Given the description of an element on the screen output the (x, y) to click on. 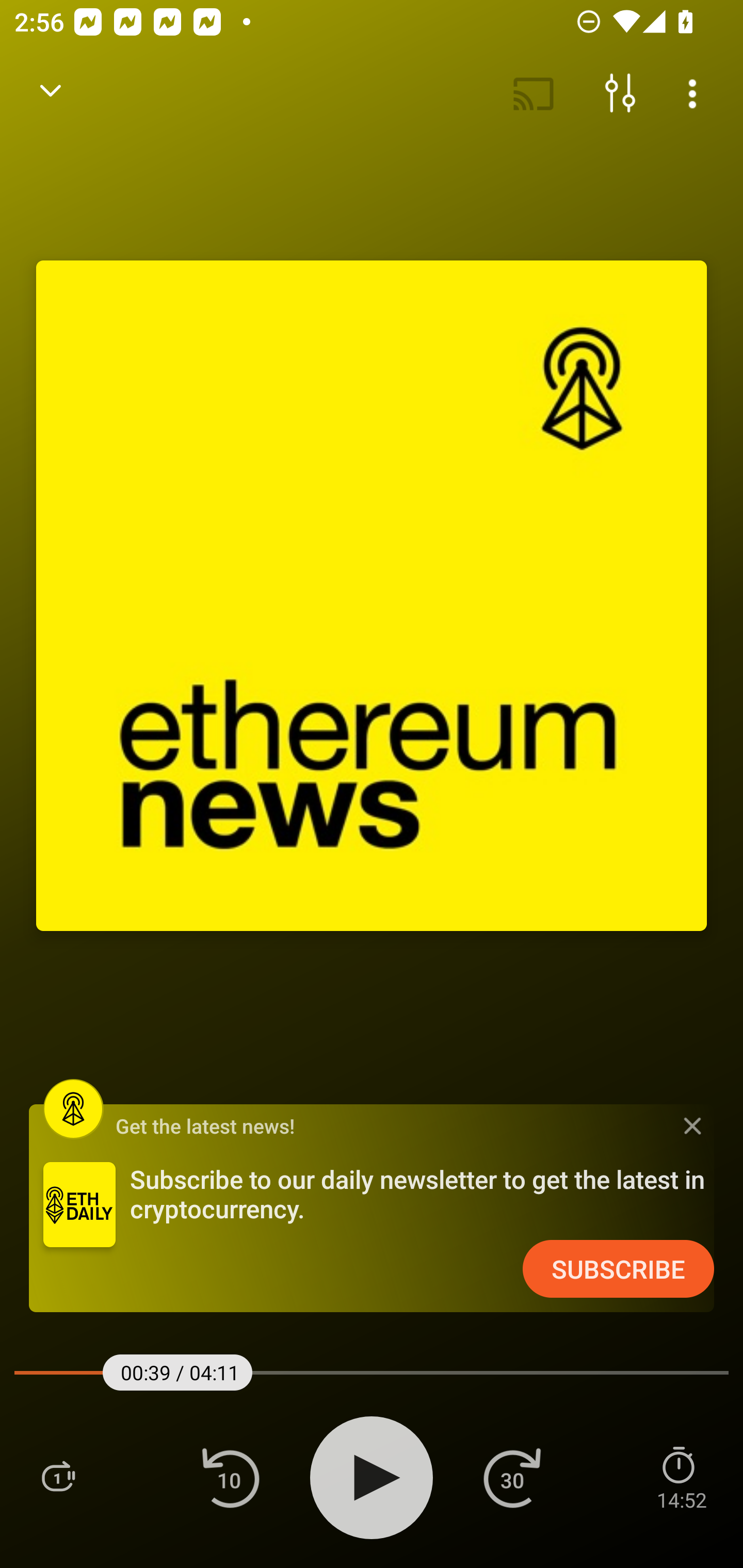
Cast. Disconnected (533, 93)
 Back (50, 94)
SUBSCRIBE (618, 1269)
Sleep Timer  14:52 (681, 1477)
 Playlist (57, 1477)
